Given the description of an element on the screen output the (x, y) to click on. 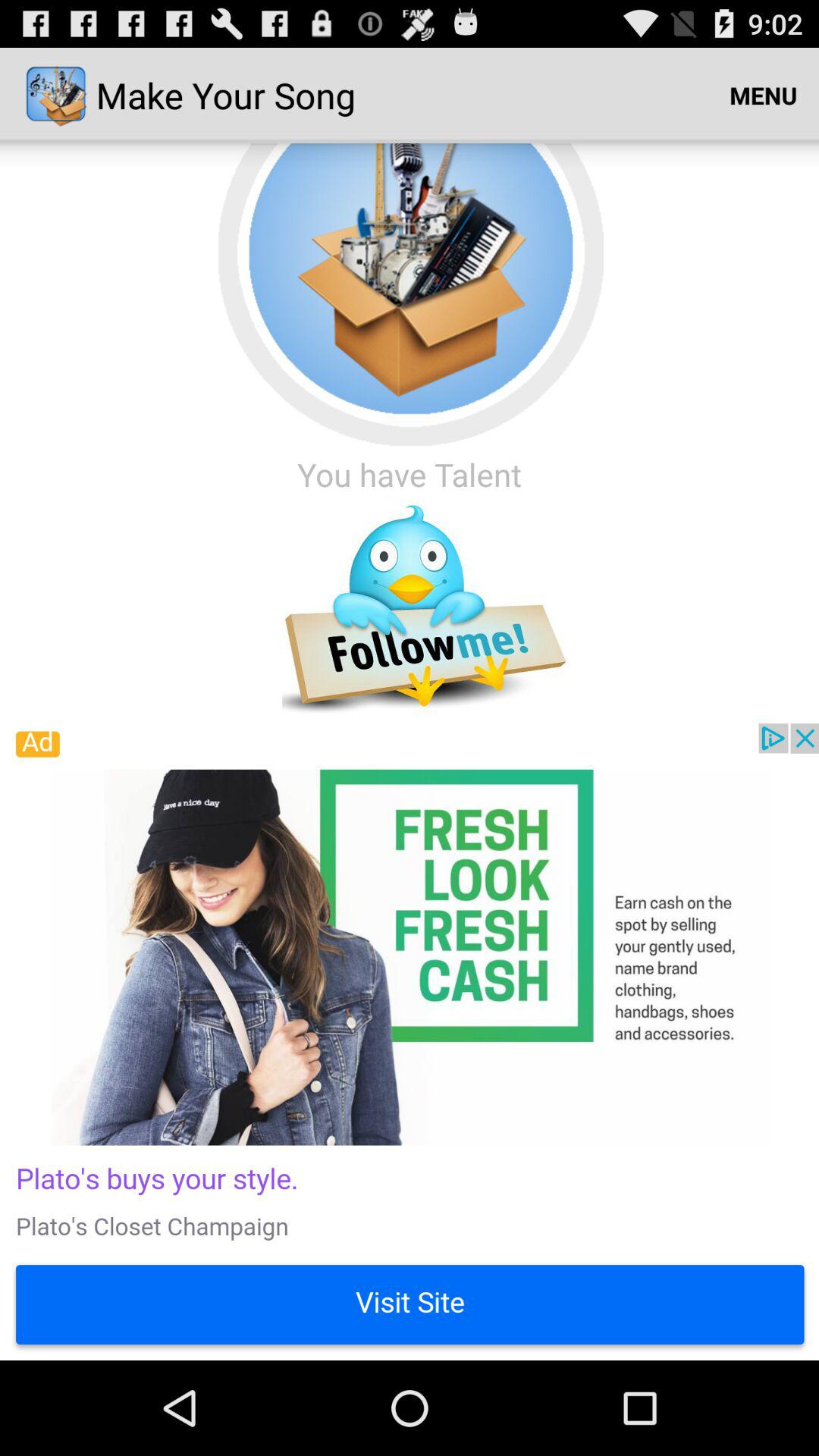
click to visit the website (409, 1041)
